Given the description of an element on the screen output the (x, y) to click on. 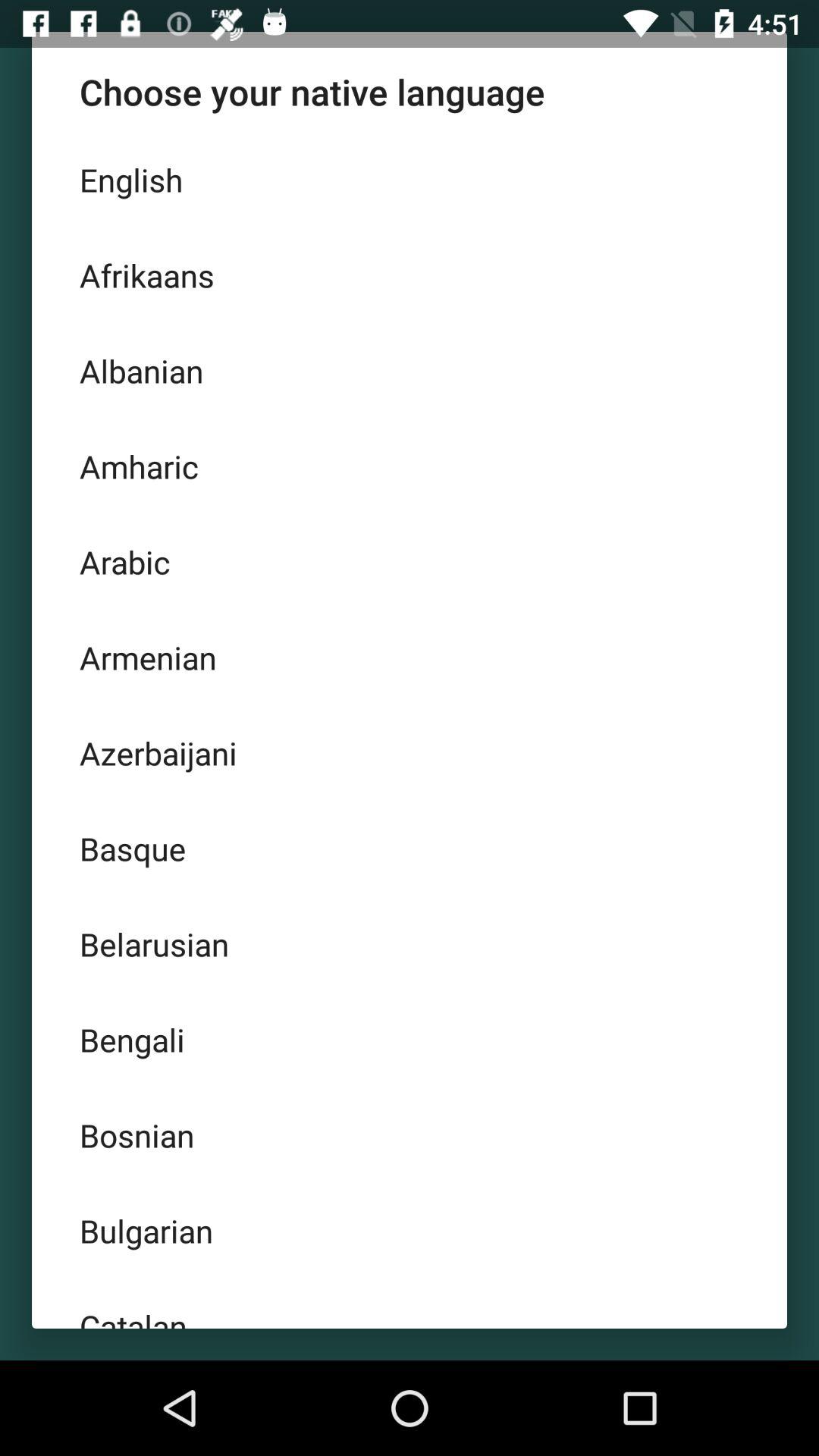
open the bosnian item (409, 1135)
